Given the description of an element on the screen output the (x, y) to click on. 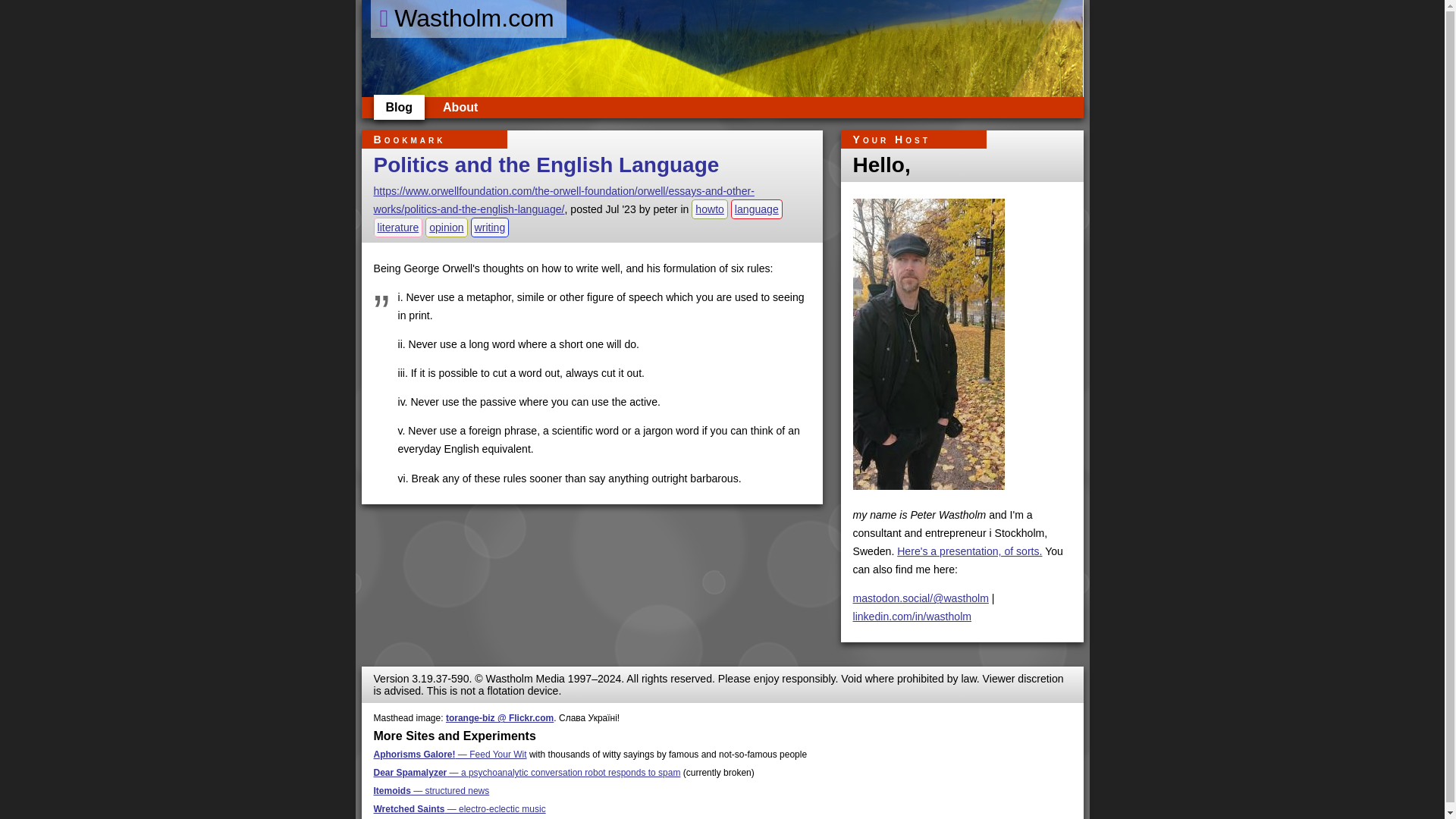
Wastholm.com (467, 18)
Here's a presentation, of sorts. (969, 551)
writing (489, 227)
About Peter (459, 107)
literature (397, 227)
Politics and the English Language (545, 164)
howto (709, 209)
Blog (398, 107)
Blog (398, 107)
language (756, 209)
About (459, 107)
opinion (446, 227)
